Given the description of an element on the screen output the (x, y) to click on. 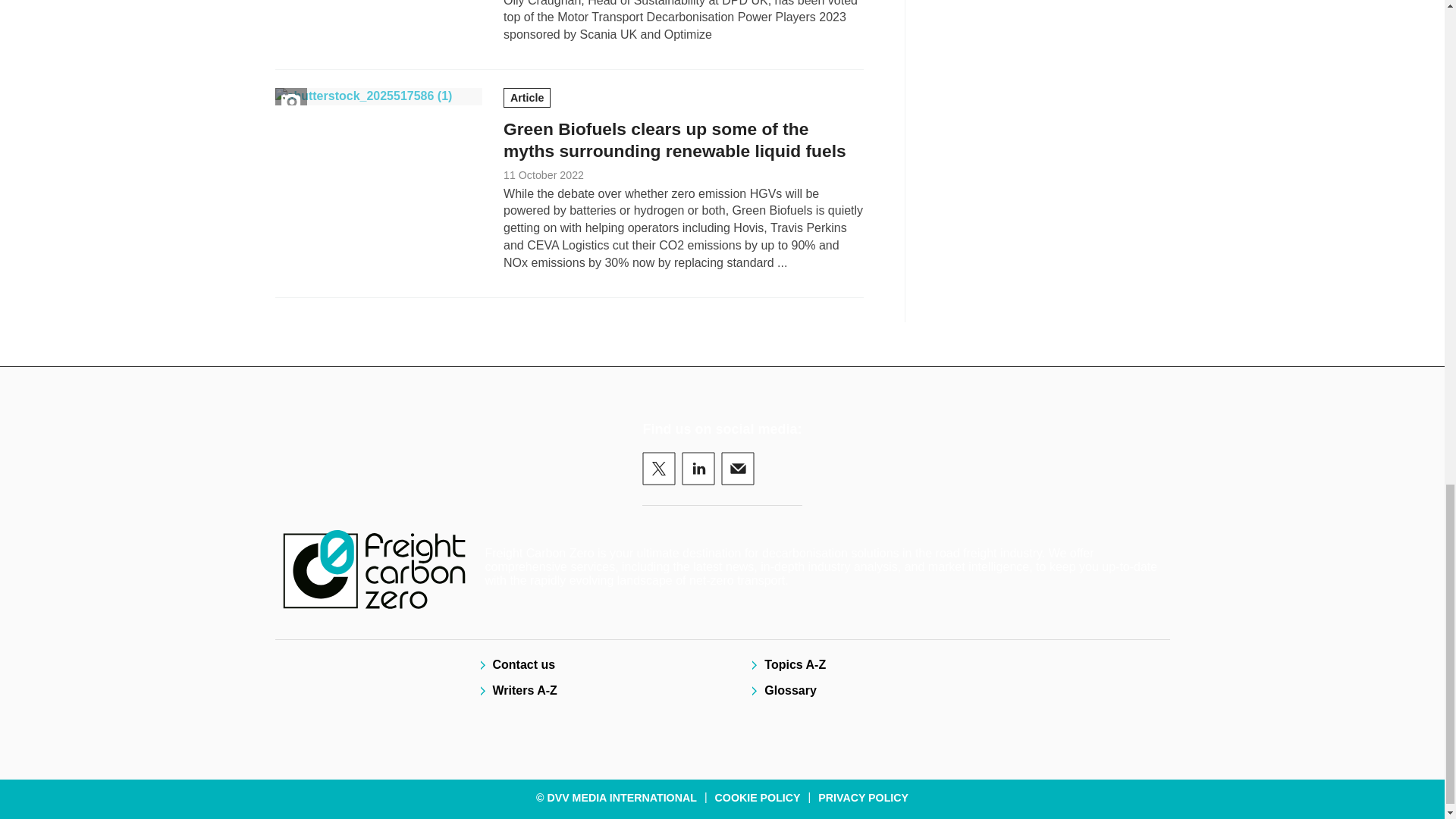
Email us (737, 468)
Connect with us on Twitter (658, 468)
Connect with us on Linked In (697, 468)
